Given the description of an element on the screen output the (x, y) to click on. 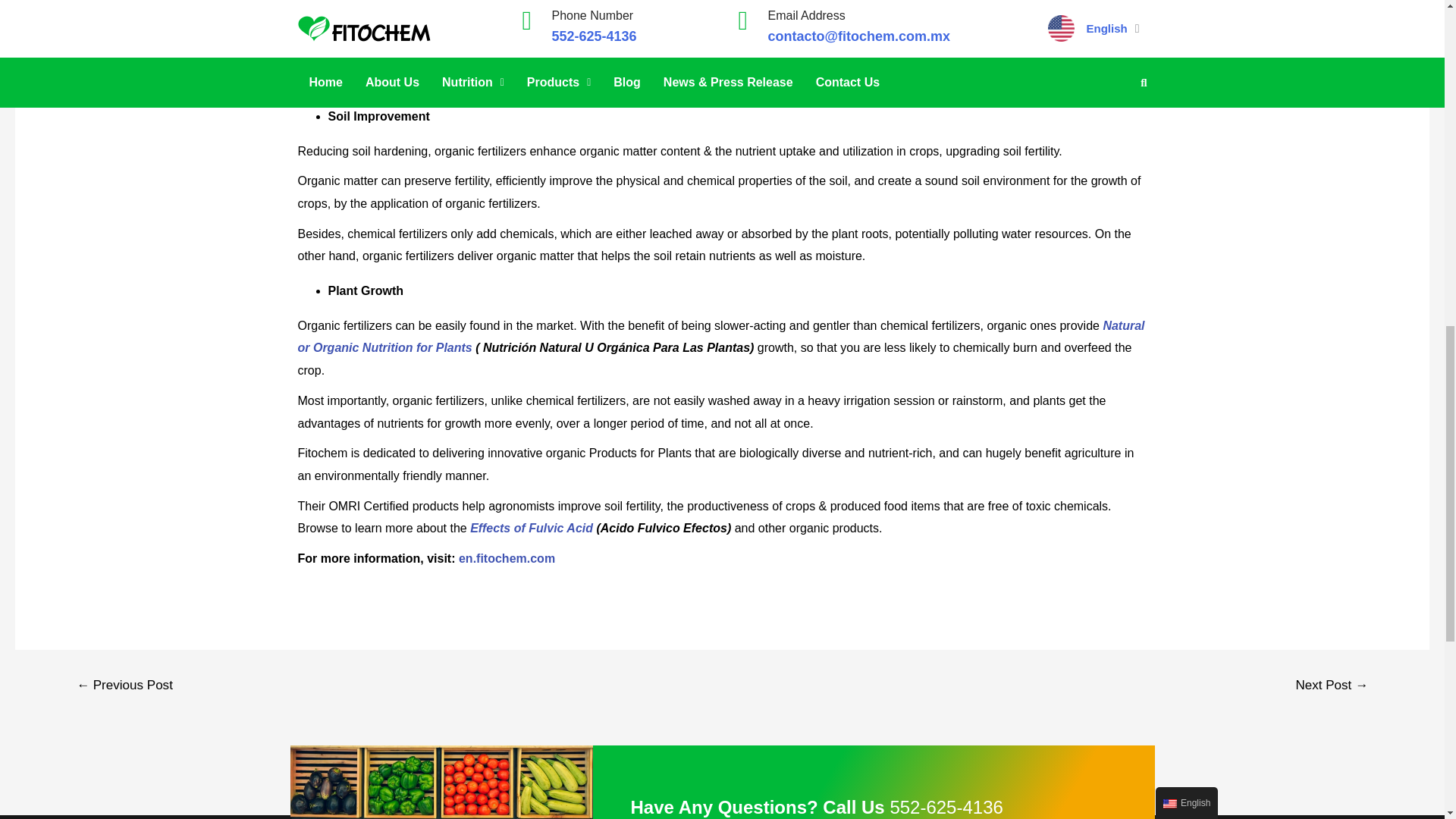
Natural or Organic Nutrition for Plants (720, 336)
